Given the description of an element on the screen output the (x, y) to click on. 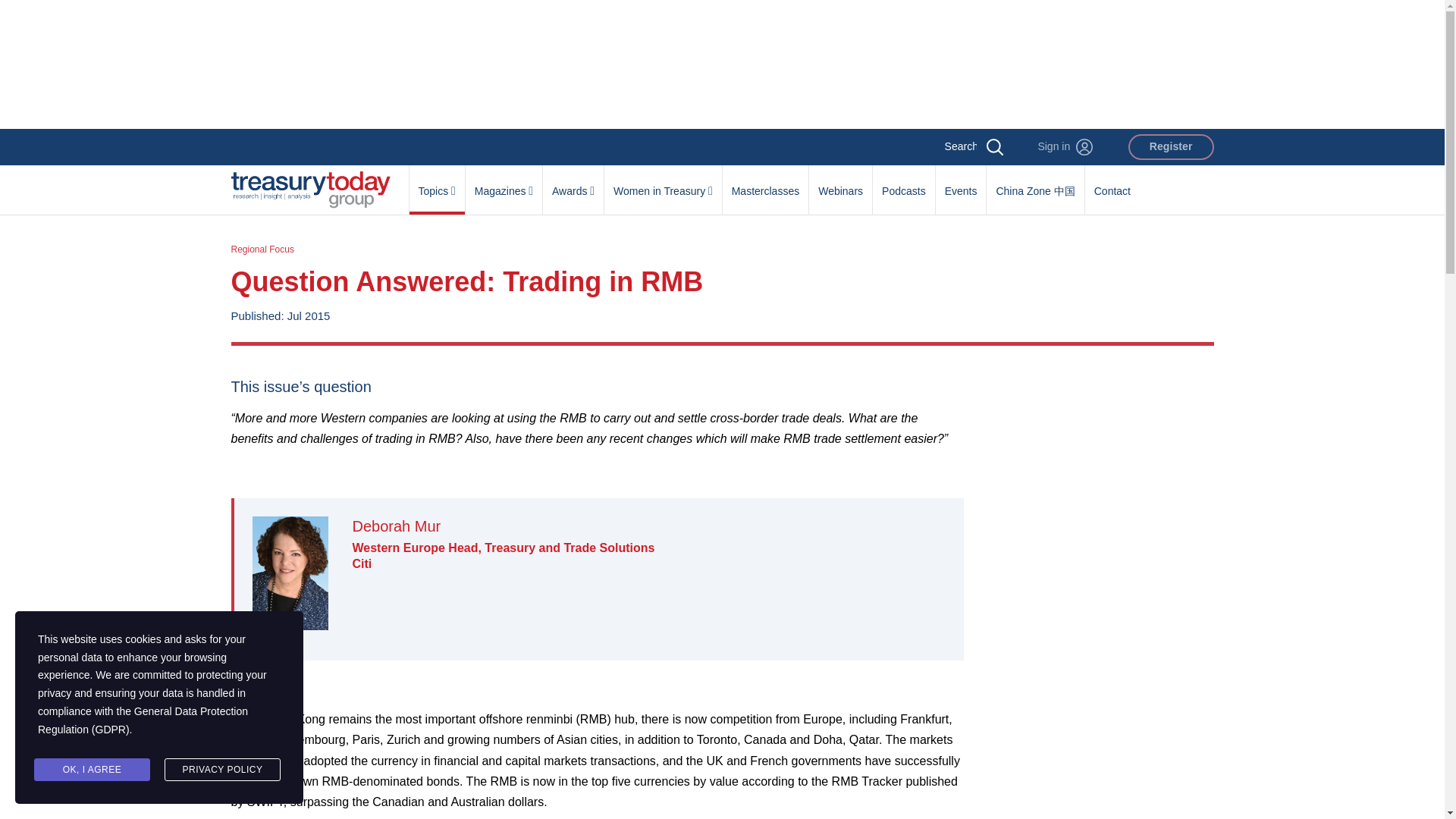
Sign in (1064, 146)
Register (1171, 146)
Women in Treasury  (663, 182)
Magazines  (503, 182)
Awards  (573, 182)
Webinars (840, 182)
Masterclasses (765, 182)
Topics  (436, 182)
